Given the description of an element on the screen output the (x, y) to click on. 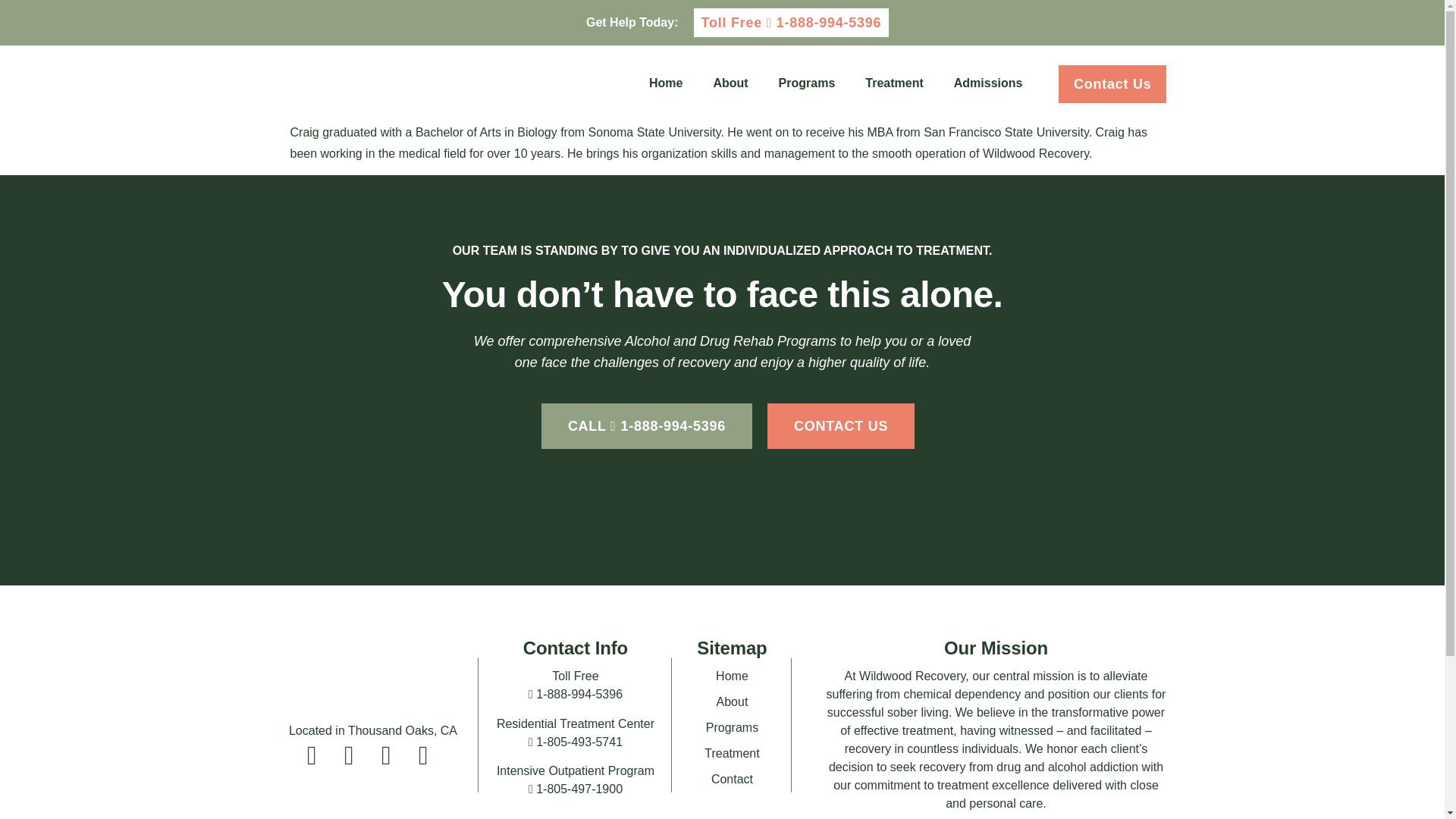
Programs (806, 83)
Treatment (893, 83)
Toll Free 1-888-994-5396 (790, 22)
Home (665, 83)
Admissions (988, 83)
About (729, 83)
